Given the description of an element on the screen output the (x, y) to click on. 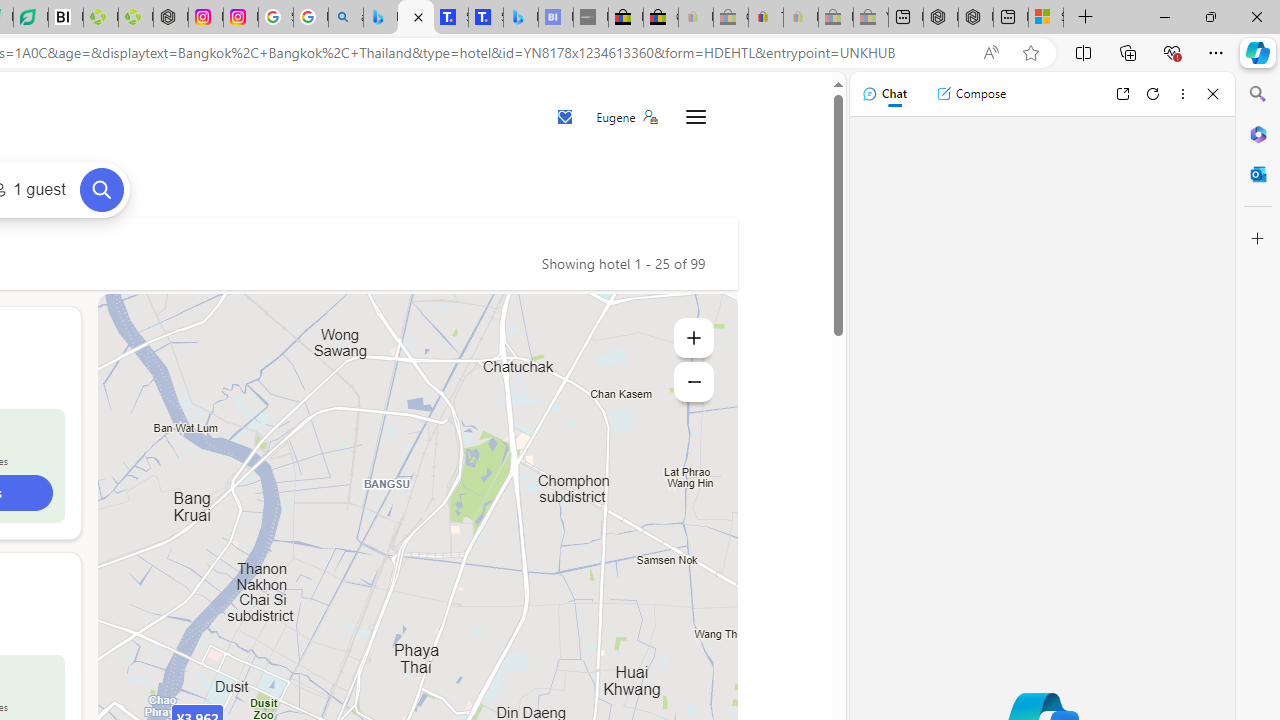
Eugene (626, 117)
Descarga Driver Updater (136, 17)
Yard, Garden & Outdoor Living - Sleeping (870, 17)
Nordace - Nordace Edin Collection (170, 17)
Save (565, 118)
Threats and offensive language policy | eBay (765, 17)
Press Room - eBay Inc. - Sleeping (835, 17)
Microsoft Bing Travel - Stays in Bangkok, Bangkok, Thailand (415, 17)
Outlook (1258, 174)
Nvidia va a poner a prueba la paciencia de los inversores (65, 17)
